Given the description of an element on the screen output the (x, y) to click on. 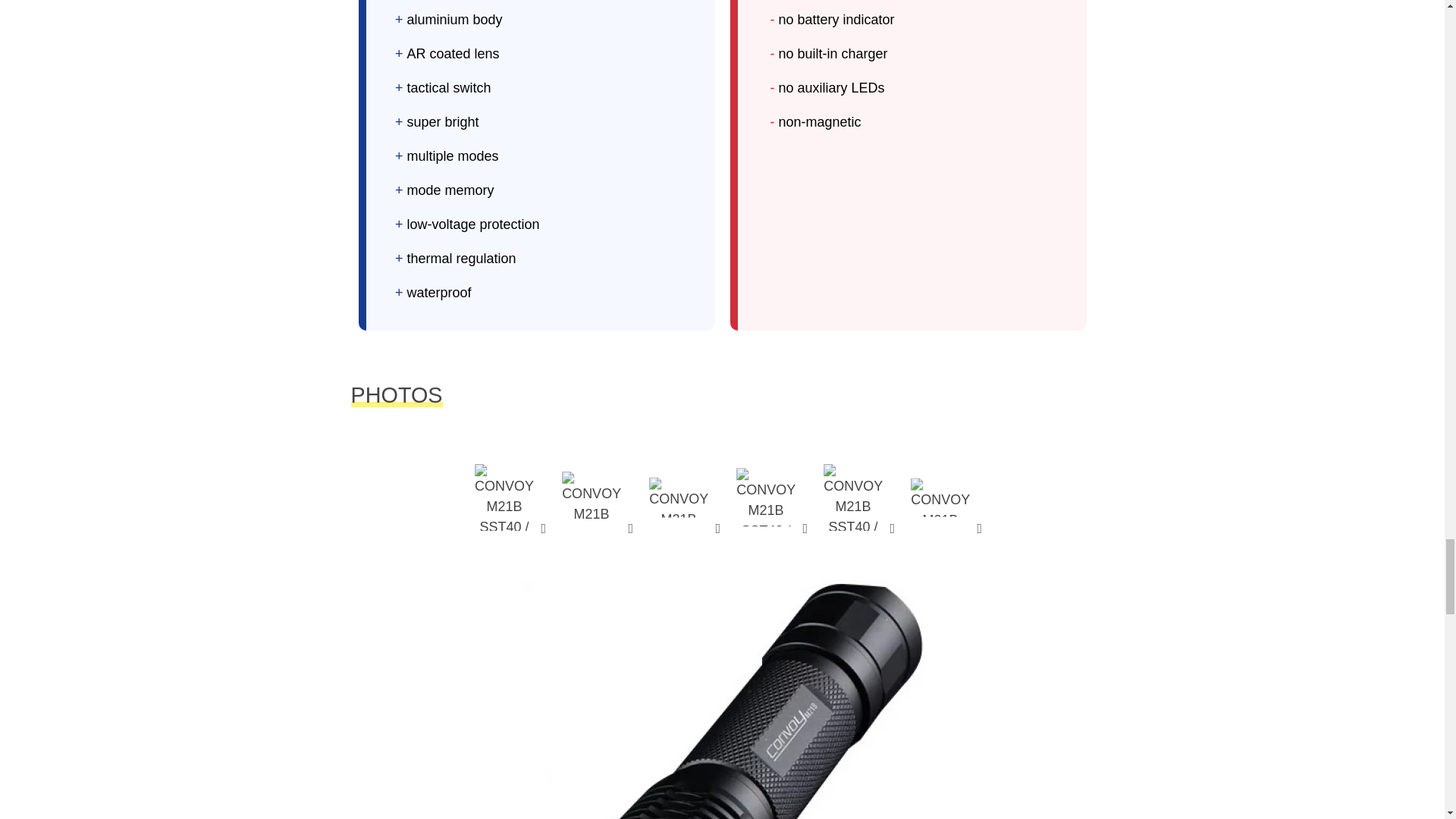
Click to view larger image (591, 496)
Click to view larger image (504, 496)
Click to view larger image (765, 496)
Click to view larger image (678, 496)
Click to view larger image (852, 496)
